Given the description of an element on the screen output the (x, y) to click on. 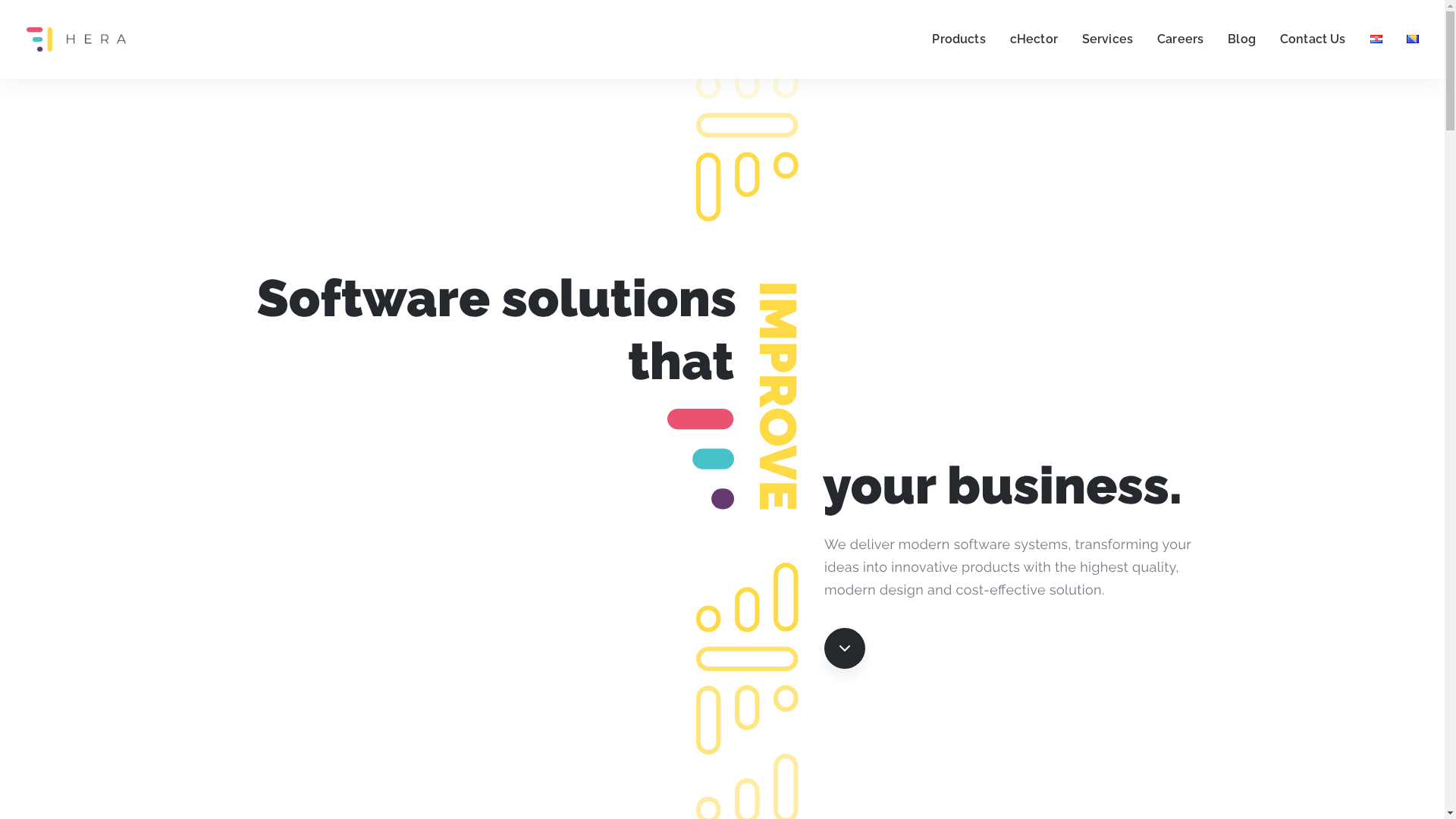
cHector Element type: text (1033, 39)
Services Element type: text (1107, 39)
Contact Us Element type: text (1312, 39)
Blog Element type: text (1241, 39)
Products Element type: text (963, 39)
Careers Element type: text (1180, 39)
